Given the description of an element on the screen output the (x, y) to click on. 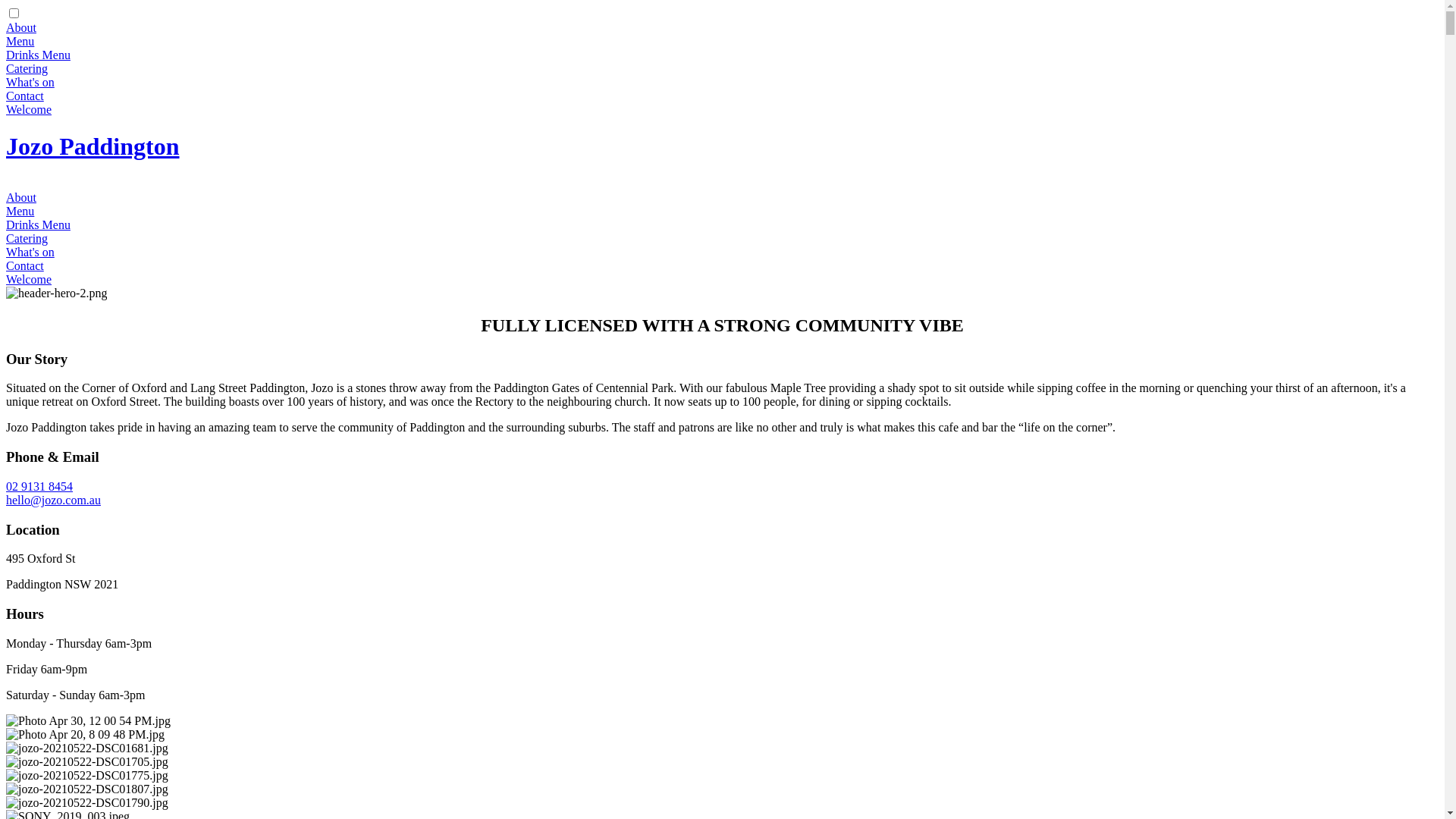
hello@jozo.com.au Element type: text (53, 499)
Catering Element type: text (26, 68)
What's on Element type: text (30, 81)
Contact Element type: text (24, 95)
Jozo Paddington Element type: text (92, 146)
Contact Element type: text (24, 265)
Menu Element type: text (20, 40)
What's on Element type: text (30, 251)
Drinks Menu Element type: text (38, 54)
Menu Element type: text (20, 210)
02 9131 8454 Element type: text (39, 486)
Drinks Menu Element type: text (38, 224)
About Element type: text (21, 197)
About Element type: text (21, 27)
Welcome Element type: text (28, 109)
Welcome Element type: text (28, 279)
Catering Element type: text (26, 238)
